Given the description of an element on the screen output the (x, y) to click on. 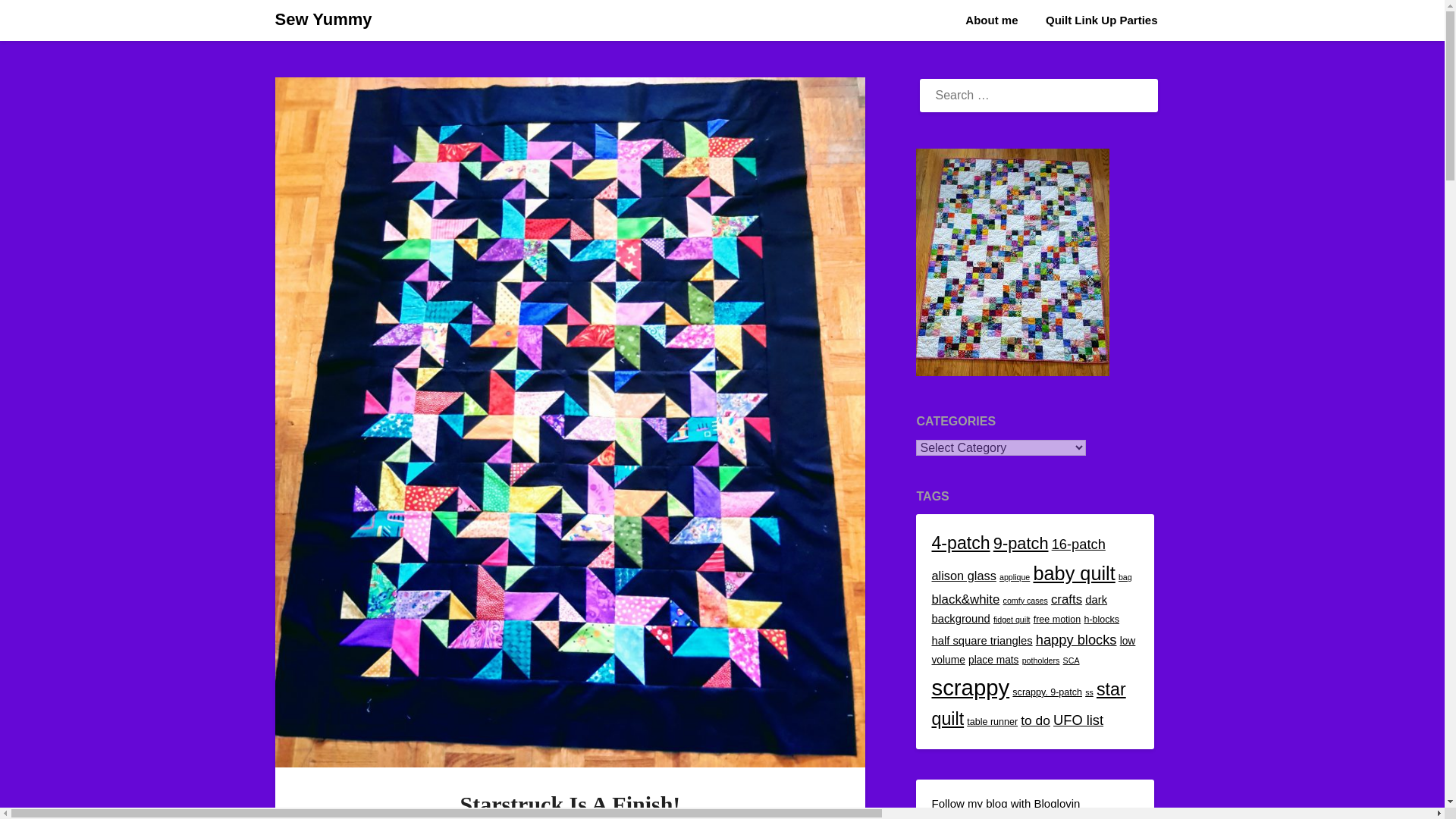
9-patch (1020, 542)
Quilt Link Up Parties (1101, 20)
Sew Yummy (323, 19)
About me (991, 20)
Search (38, 22)
4-patch (960, 542)
